Given the description of an element on the screen output the (x, y) to click on. 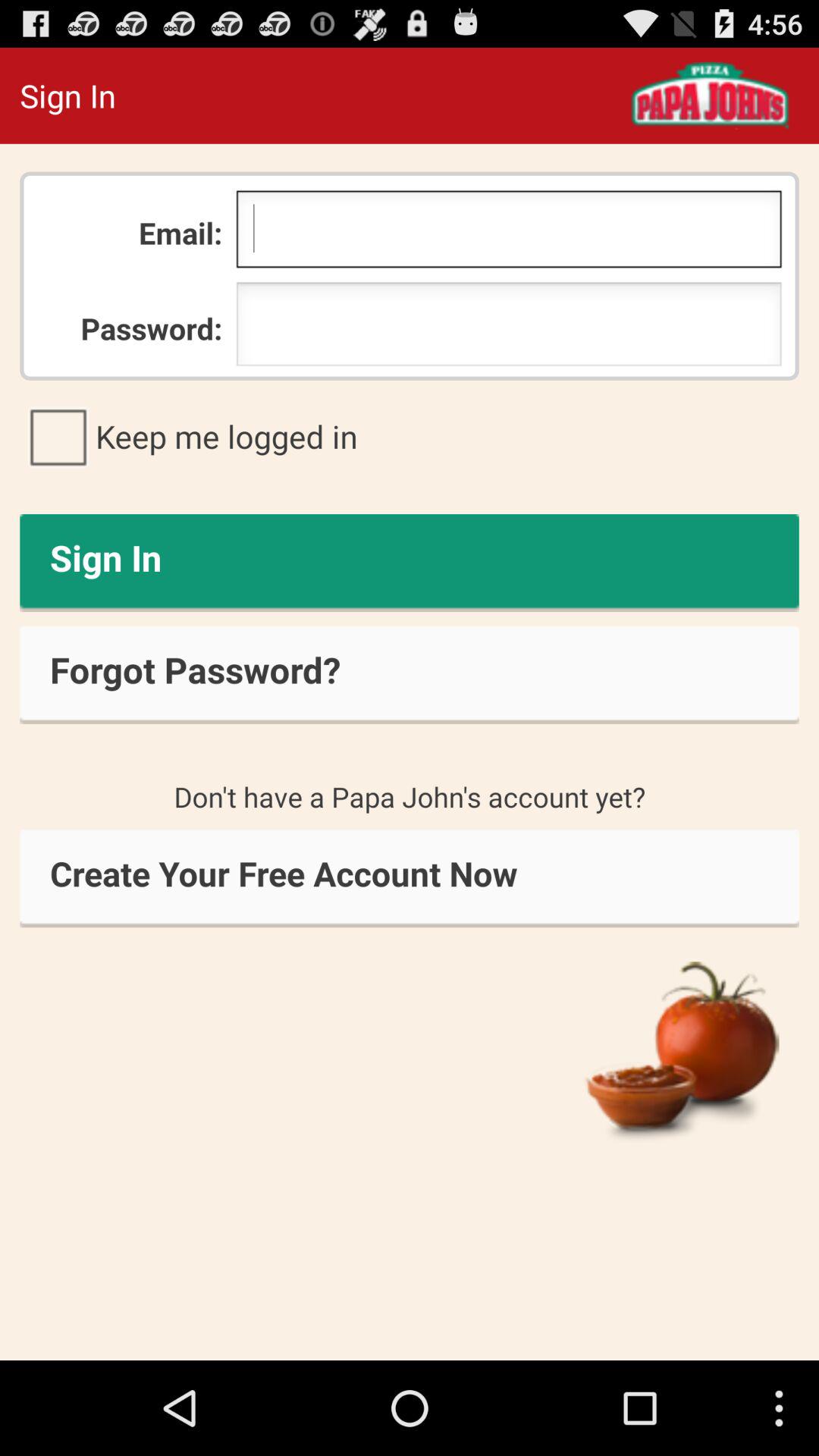
enter email address (508, 232)
